Given the description of an element on the screen output the (x, y) to click on. 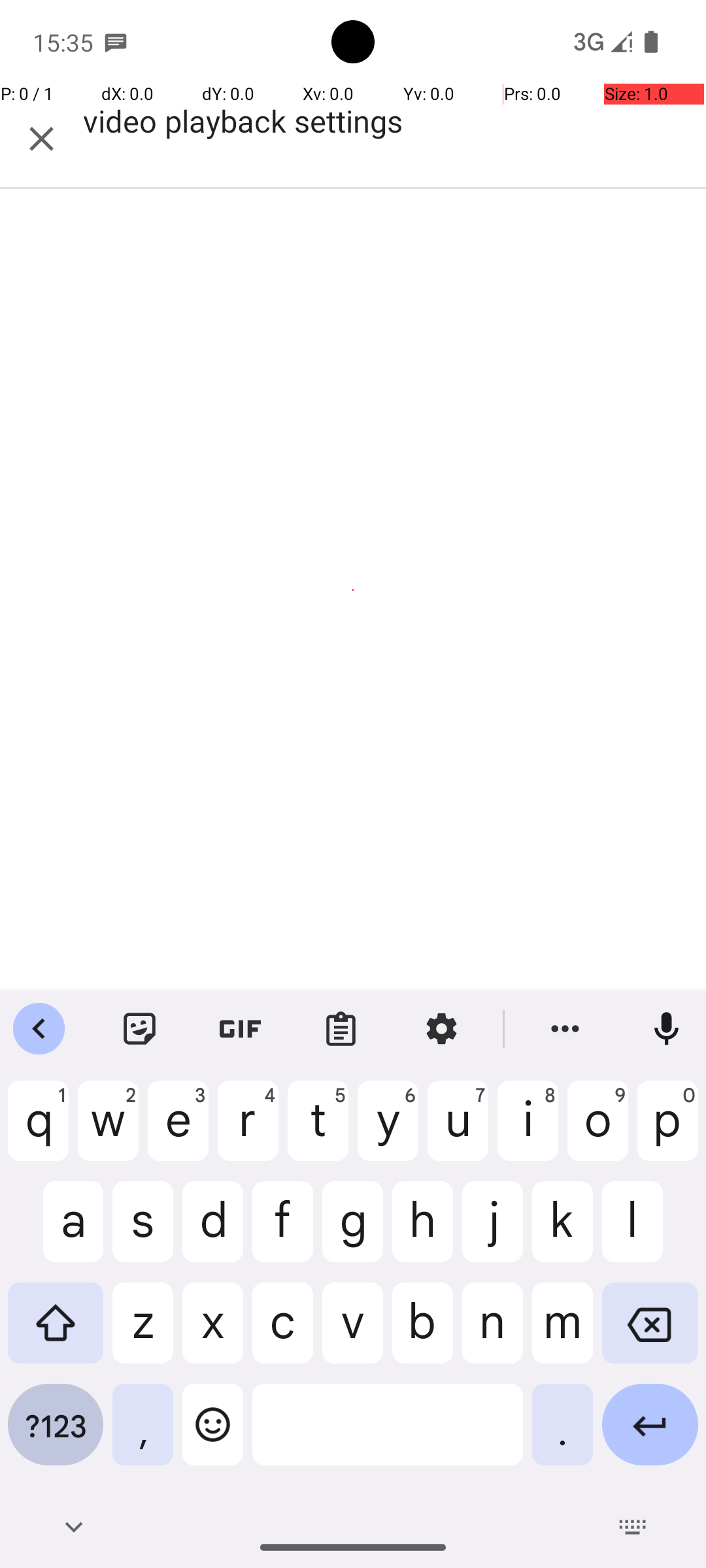
video playback settings
 Element type: android.widget.EditText (387, 138)
